Given the description of an element on the screen output the (x, y) to click on. 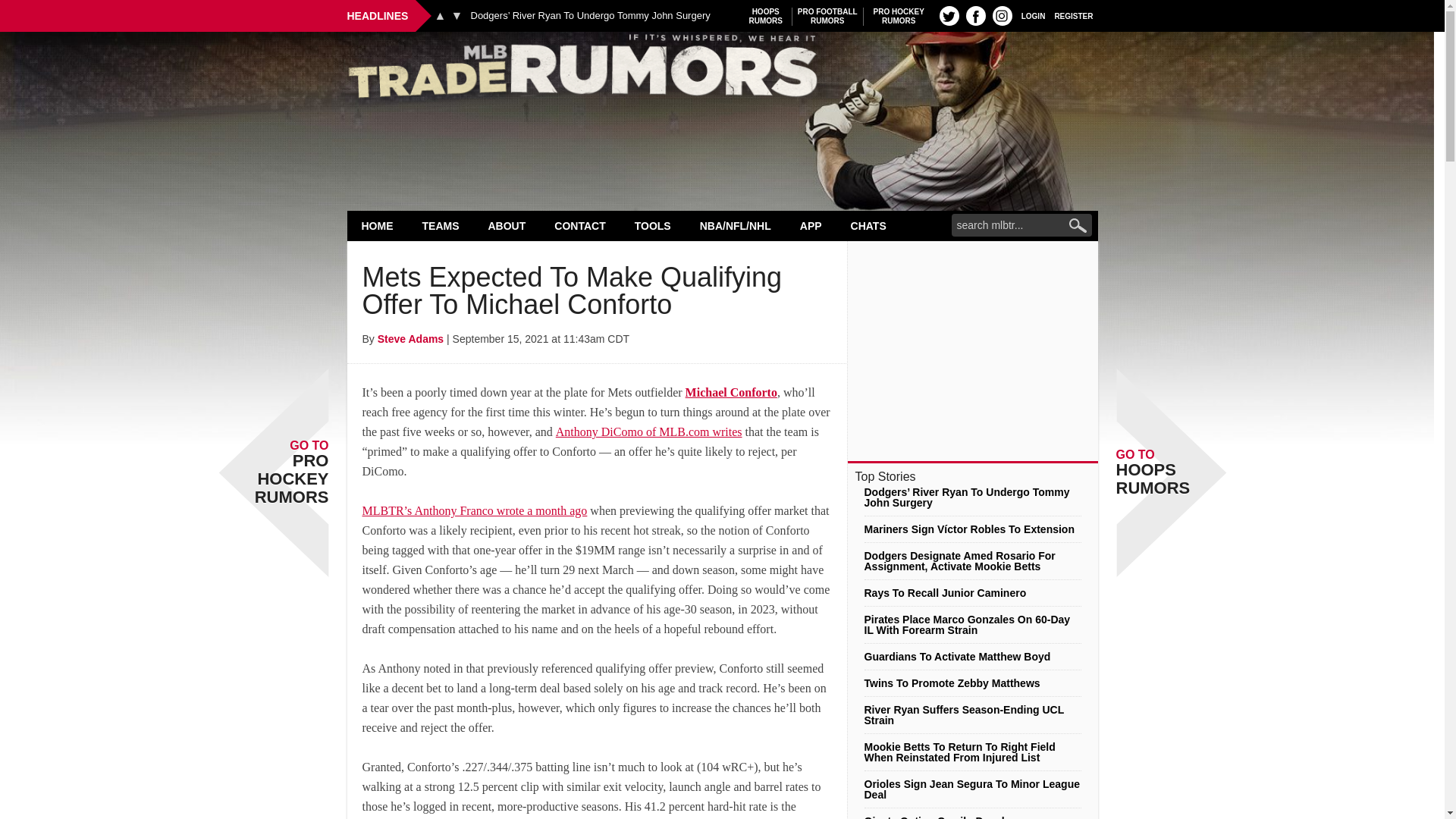
TEAMS (440, 225)
MLB Trade Rumors (722, 69)
Next (456, 15)
Previous (898, 16)
FB profile (439, 15)
LOGIN (765, 16)
HOME (827, 16)
